Given the description of an element on the screen output the (x, y) to click on. 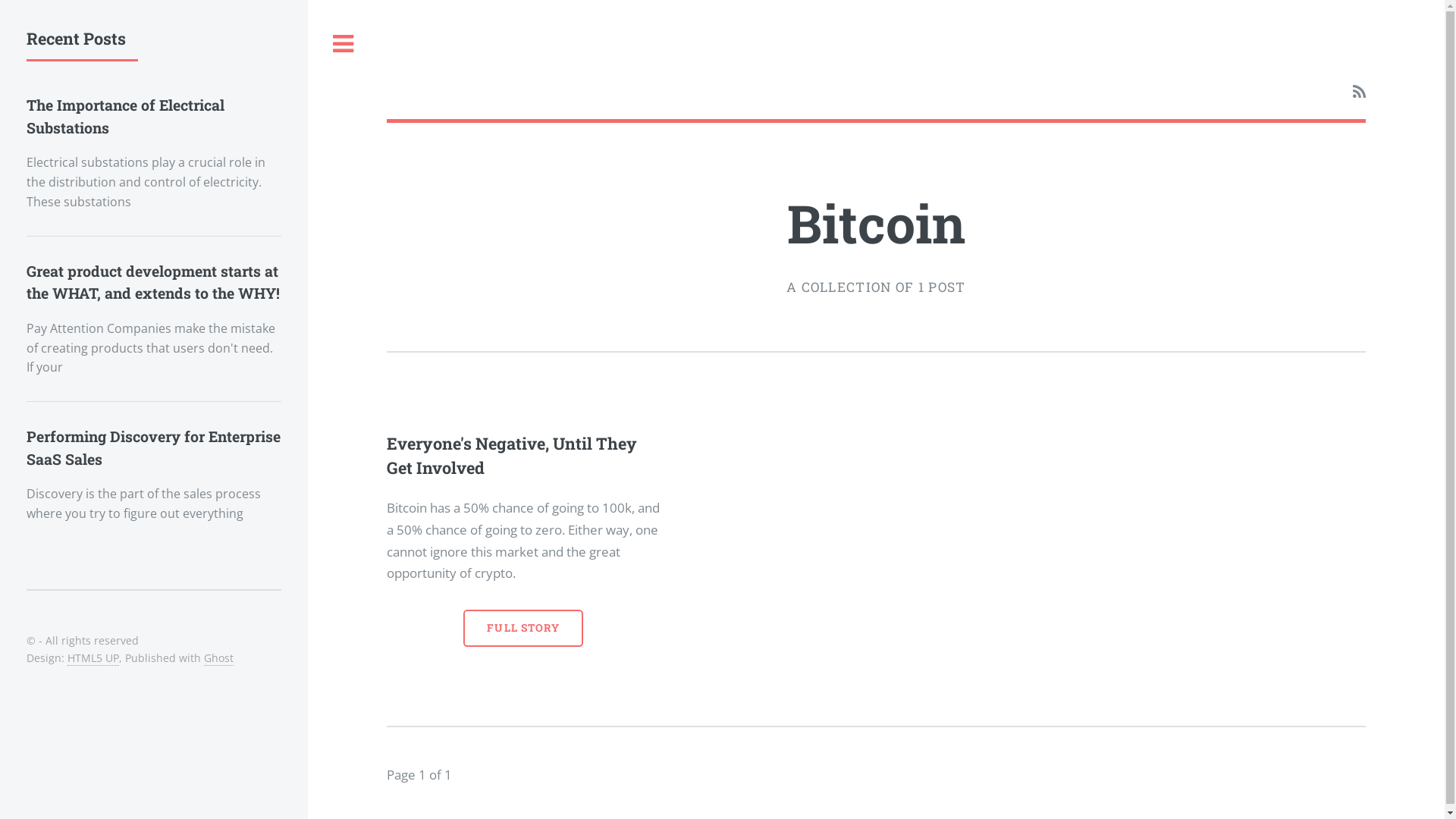
Ghost Element type: text (218, 657)
Everyone's Negative, Until They Get Involved Element type: text (511, 455)
Bitcoin Element type: text (876, 222)
Toggle Element type: text (343, 44)
HTML5 UP Element type: text (93, 657)
FULL STORY Element type: text (523, 627)
The Importance of Electrical Substations Element type: text (125, 115)
Performing Discovery for Enterprise SaaS Sales Element type: text (153, 446)
